Given the description of an element on the screen output the (x, y) to click on. 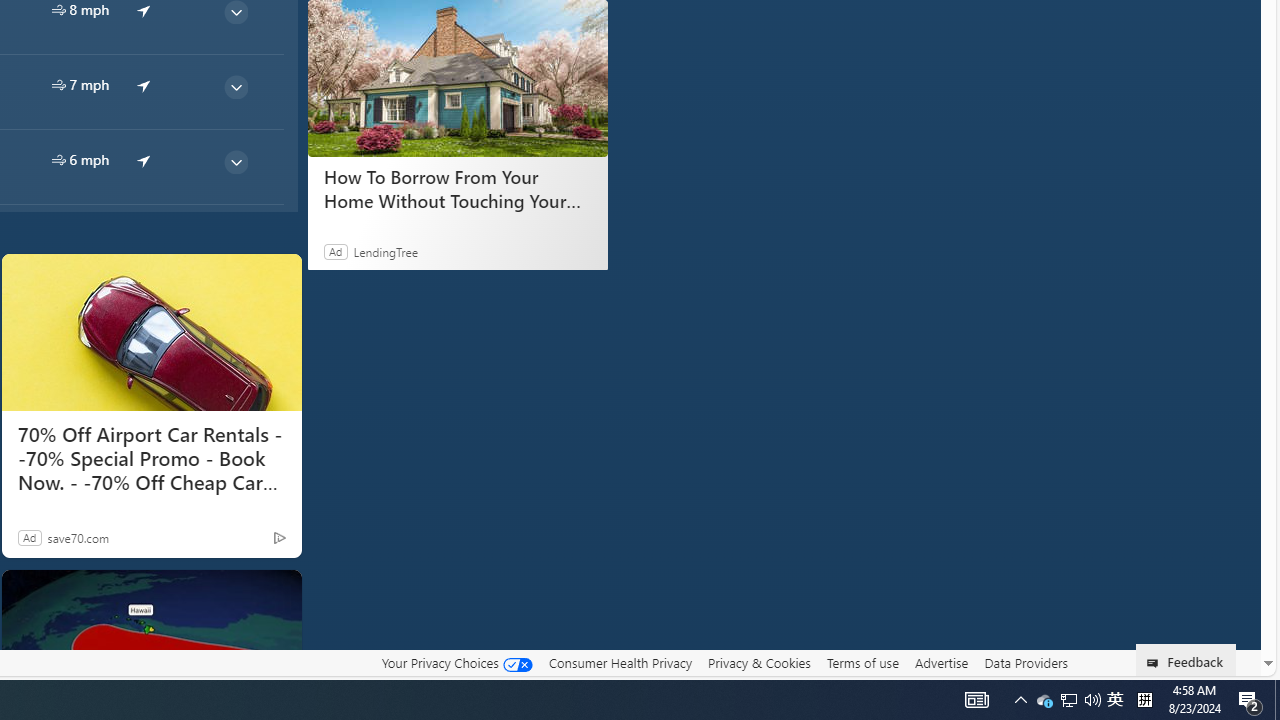
LendingTree (385, 251)
Your Privacy Choices (456, 663)
Data Providers (1025, 662)
Terms of use (861, 663)
Consumer Health Privacy (619, 662)
hourlyTable/wind (58, 159)
common/arrow (144, 159)
Consumer Health Privacy (619, 663)
Your Privacy Choices (456, 662)
Data Providers (1025, 663)
Class: feedback_link_icon-DS-EntryPoint1-1 (1156, 663)
common/thinArrow (235, 161)
save70.com (77, 537)
